Given the description of an element on the screen output the (x, y) to click on. 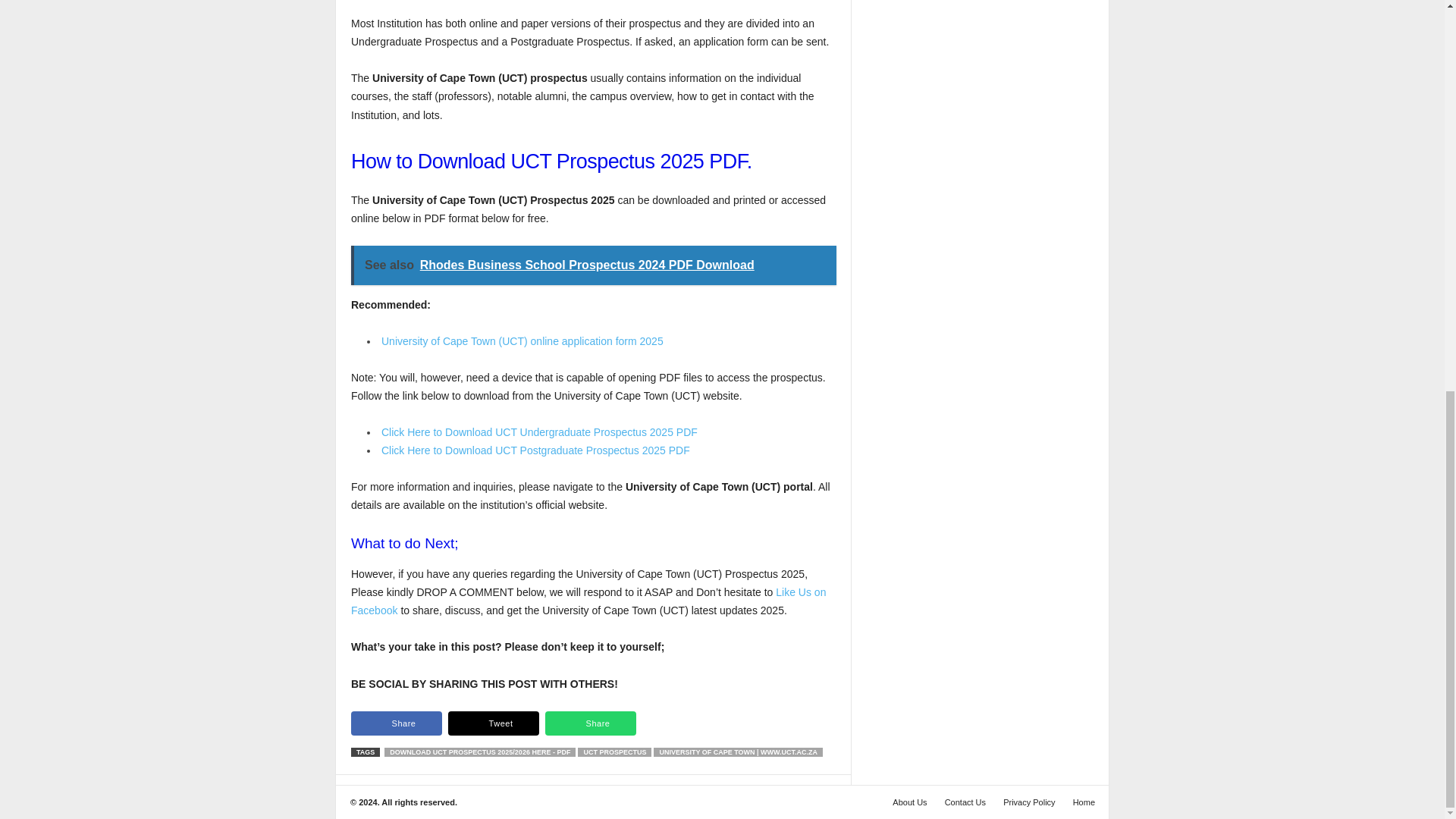
Click Here to Download UCT Postgraduate Prospectus 2025 PDF (535, 450)
Like Us on Facebook  (587, 601)
About Us (909, 801)
Contact Us (964, 801)
UCT PROSPECTUS (614, 751)
Home (1079, 801)
Click Here to Download UCT Undergraduate Prospectus 2025 PDF (539, 431)
Privacy Policy (1028, 801)
